Given the description of an element on the screen output the (x, y) to click on. 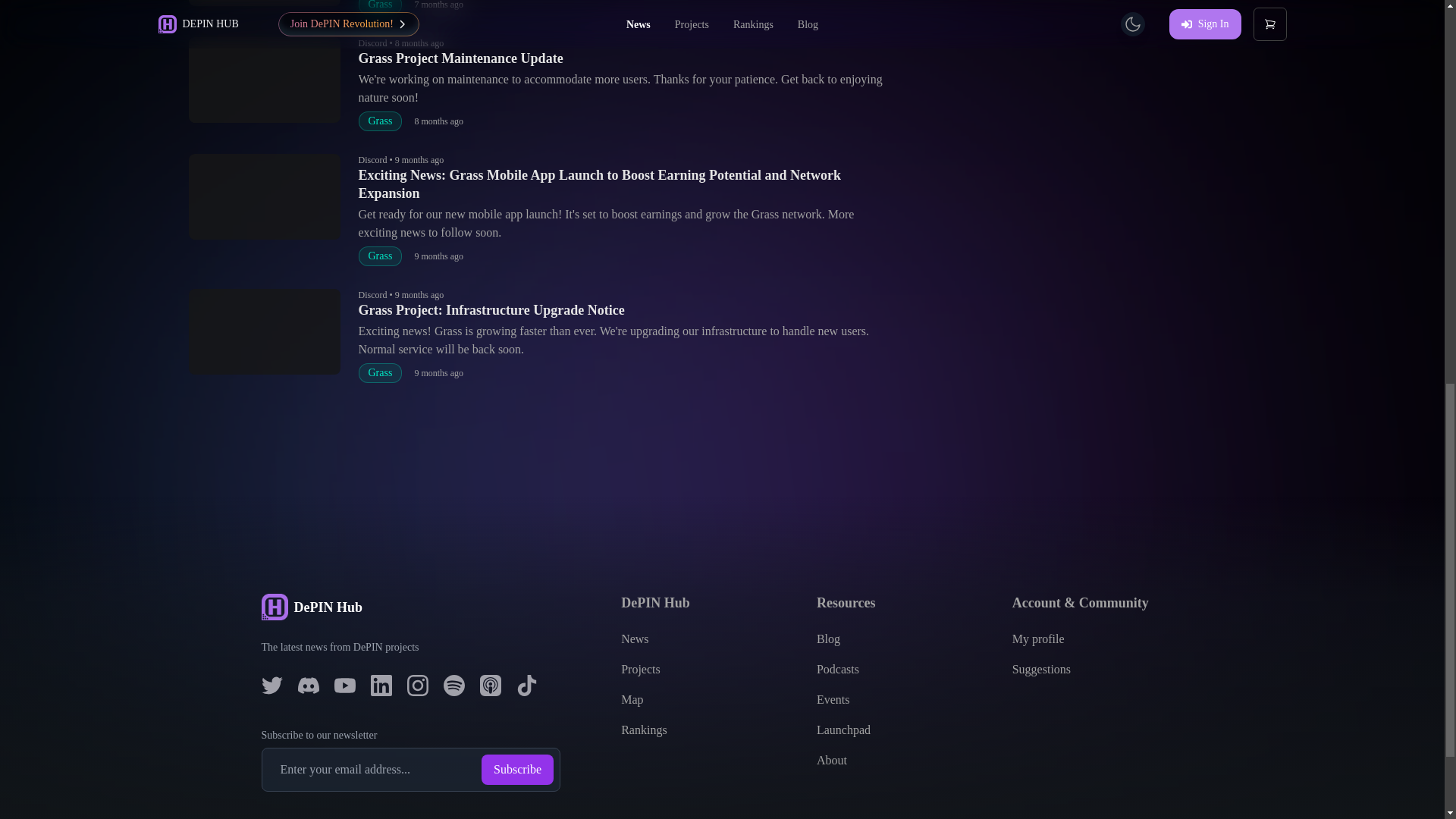
Blog (828, 638)
Rankings (643, 729)
Map (632, 698)
Subscribe (517, 769)
DePIN Hub (410, 606)
Projects (641, 668)
News (634, 638)
Podcasts (837, 668)
